Given the description of an element on the screen output the (x, y) to click on. 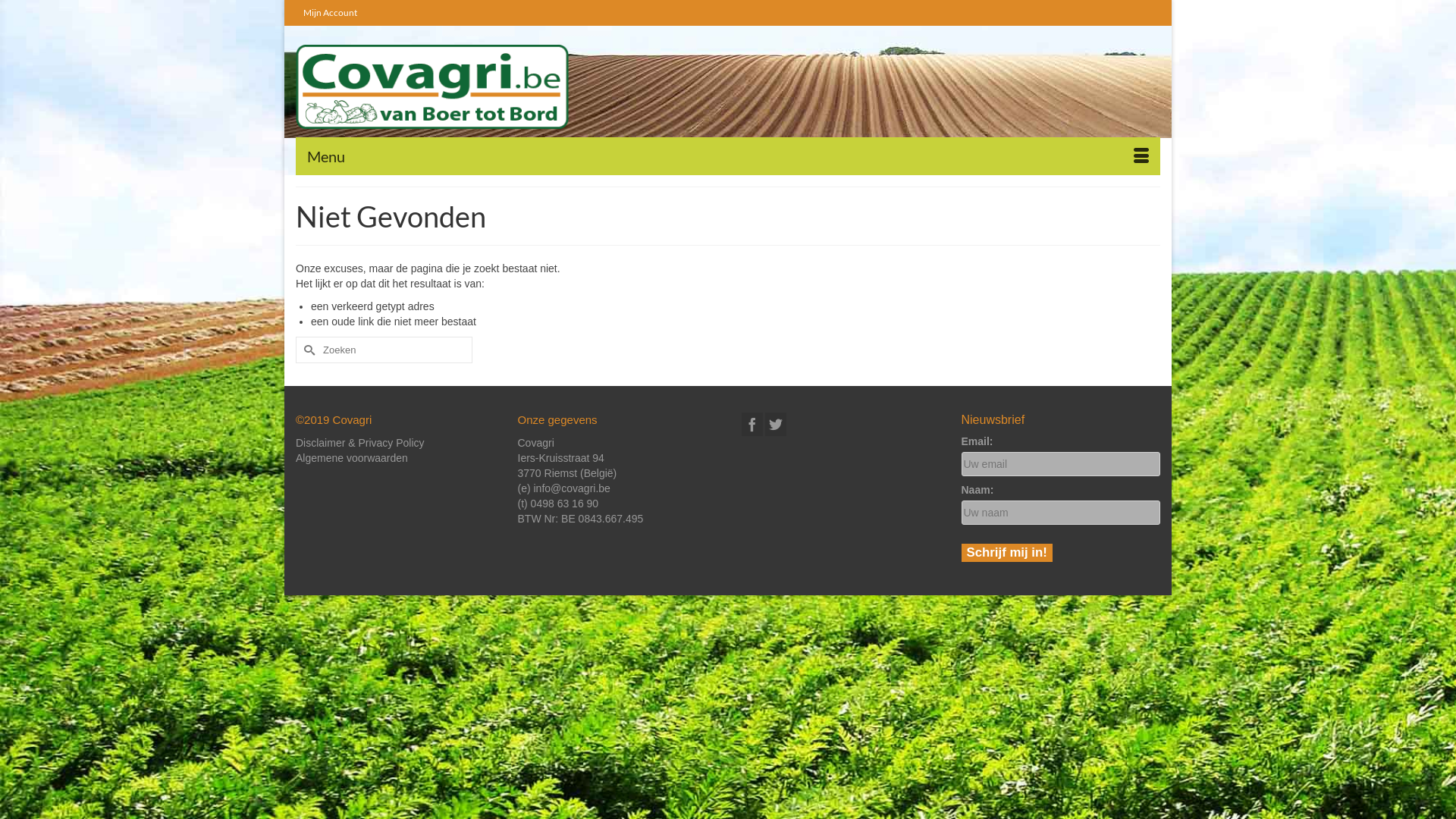
Mijn Account Element type: text (329, 12)
Covagri.be Element type: hover (431, 86)
Algemene voorwaarden Element type: text (351, 457)
Schrijf mij in! Element type: text (1006, 552)
Menu Element type: text (727, 156)
Disclaimer & Privacy Policy Element type: text (359, 442)
